Given the description of an element on the screen output the (x, y) to click on. 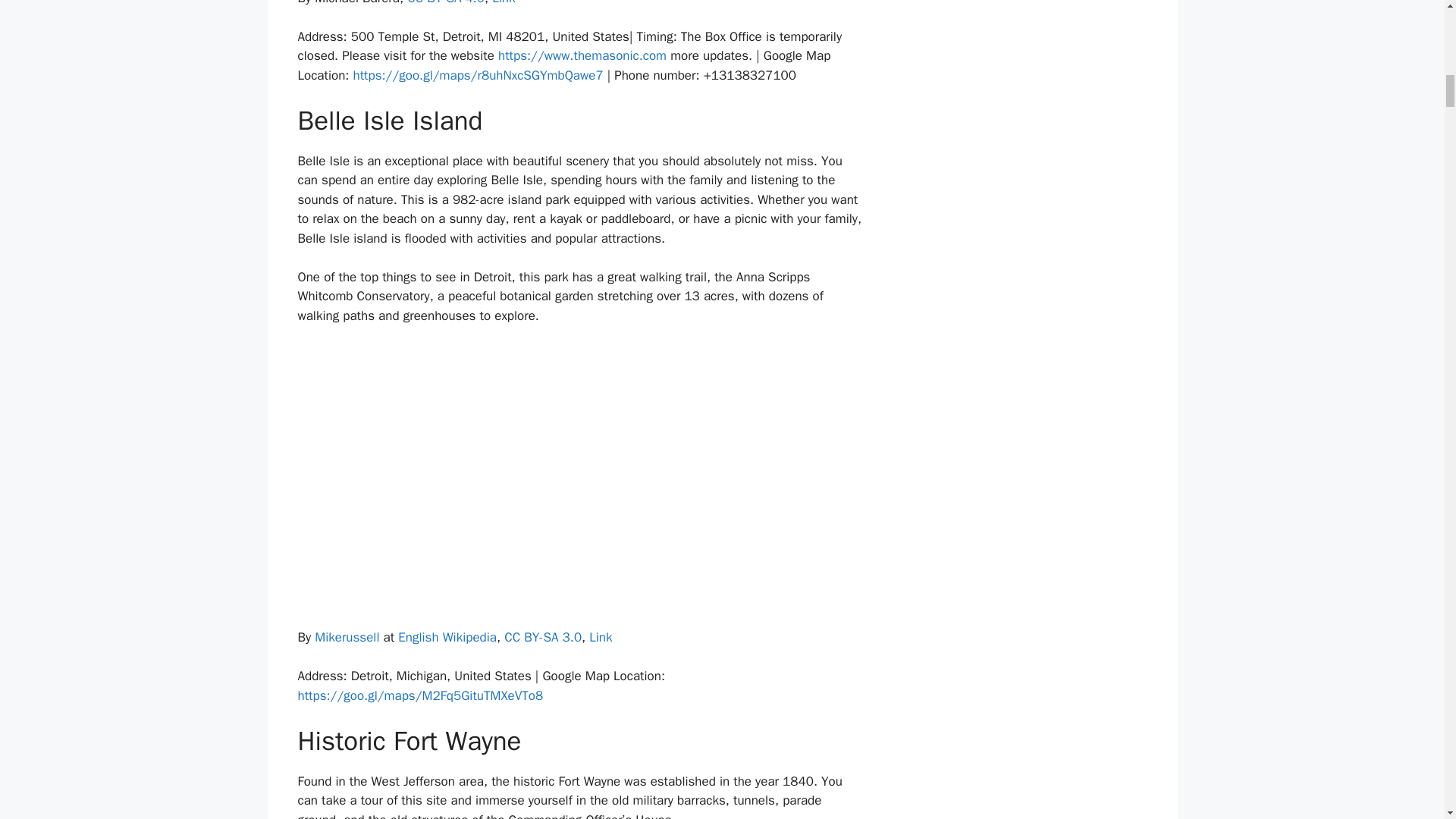
Creative Commons Attribution-Share Alike 4.0 (445, 2)
wikipedia:User:Mikerussell (346, 637)
wikipedia: (446, 637)
Creative Commons Attribution-Share Alike 3.0 (541, 637)
